Given the description of an element on the screen output the (x, y) to click on. 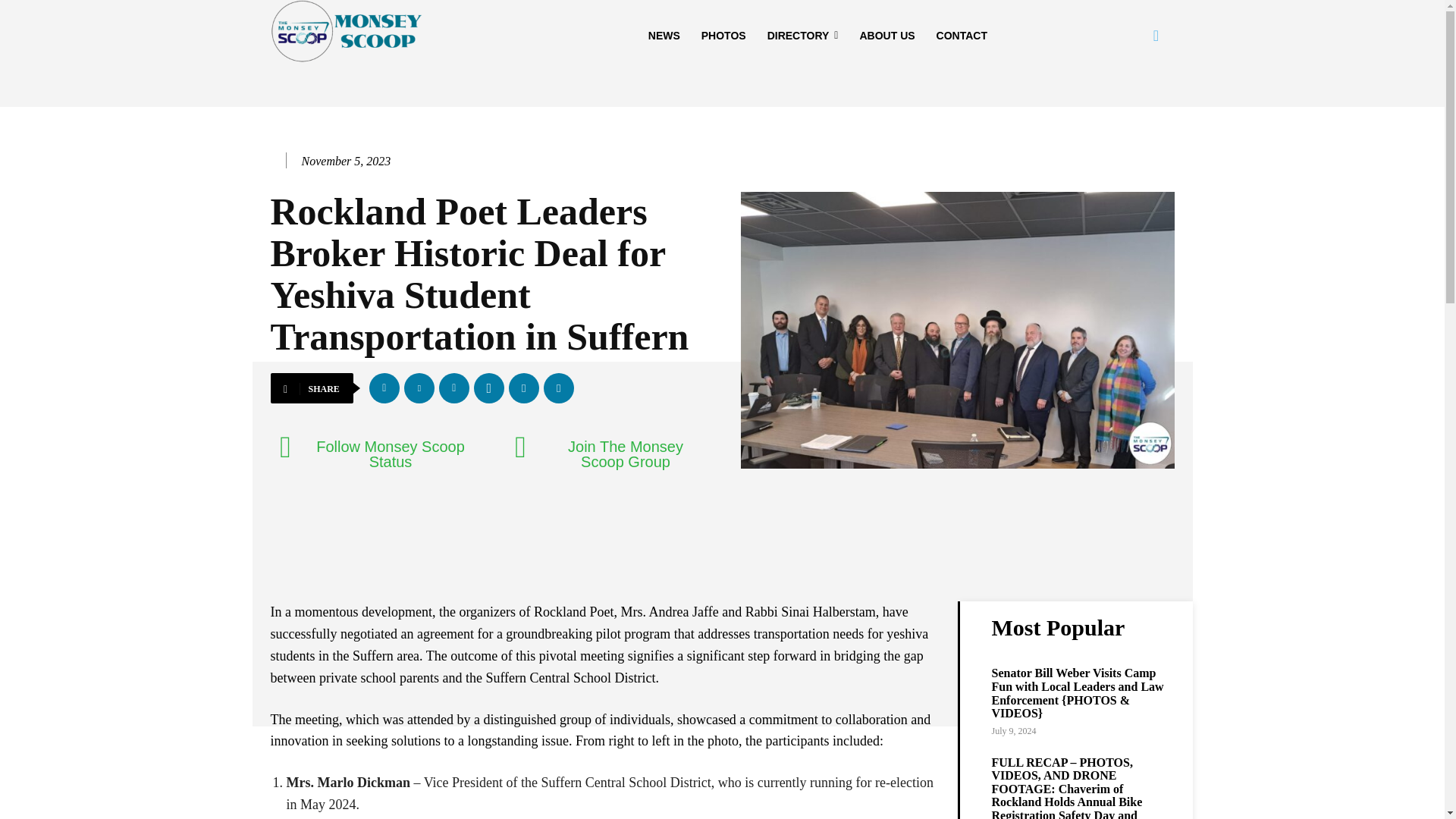
Twitter (418, 388)
WhatsApp (488, 388)
Linkedin (453, 388)
CONTACT (961, 35)
Print (558, 388)
DIRECTORY (802, 35)
PHOTOS (723, 35)
Facebook (383, 388)
NEWS (663, 35)
Email (523, 388)
ABOUT US (886, 35)
